Given the description of an element on the screen output the (x, y) to click on. 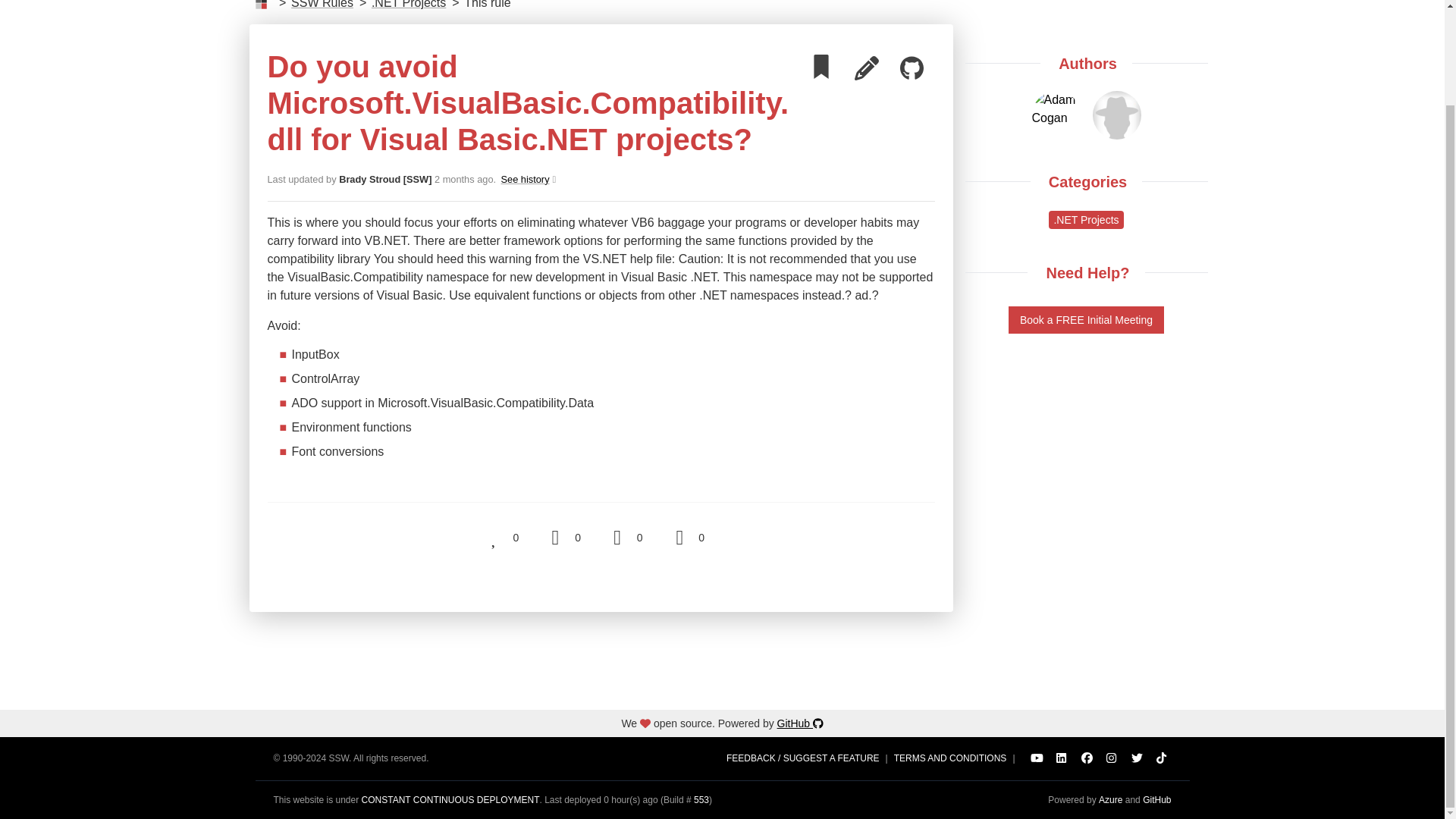
SSW Rules (526, 179)
SSW on YouTube (322, 6)
SSW on Twitter (1035, 758)
SSW on Instagram (1135, 758)
SSW on TikTok (1111, 758)
Adam Cogan (1162, 758)
SSW on Facebook (1055, 108)
See history (1086, 758)
.NET Projects (526, 179)
